Given the description of an element on the screen output the (x, y) to click on. 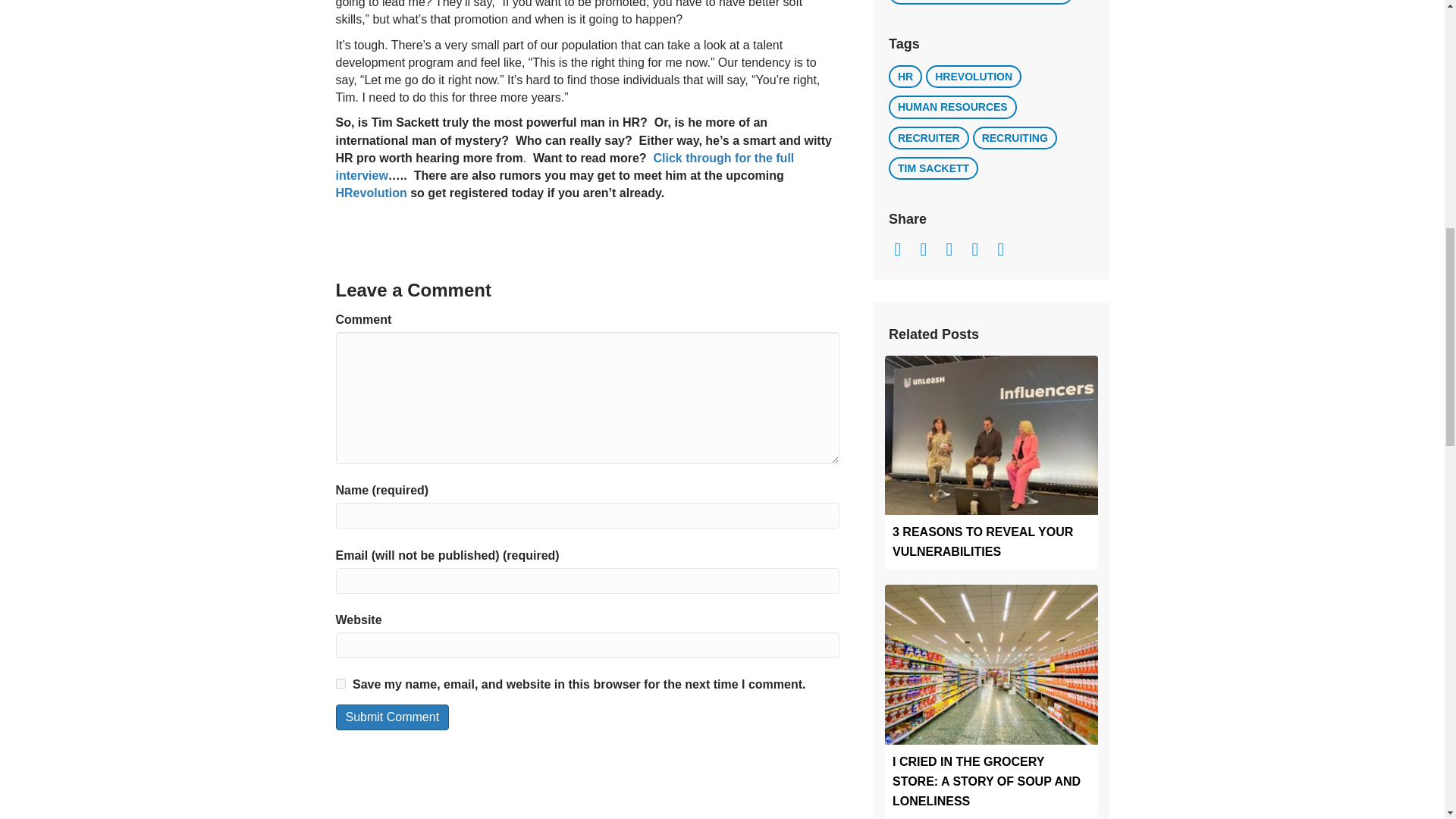
TIM SACKETT (933, 168)
HUMAN RESOURCE BLOGGERS (980, 2)
HRevolution (370, 192)
RECRUITING (1014, 137)
3 Reasons To Reveal Your Vulnerabilities (991, 433)
HREVOLUTION (974, 76)
Click through for the full interview (563, 166)
I Cried in the Grocery Store: A Story of Soup and Loneliness (986, 781)
HR (904, 76)
yes (339, 683)
RECRUITER (928, 137)
HUMAN RESOURCES (952, 106)
I Cried in the Grocery Store: A Story of Soup and Loneliness (991, 663)
Submit Comment (391, 716)
3 Reasons To Reveal Your Vulnerabilities (982, 541)
